Given the description of an element on the screen output the (x, y) to click on. 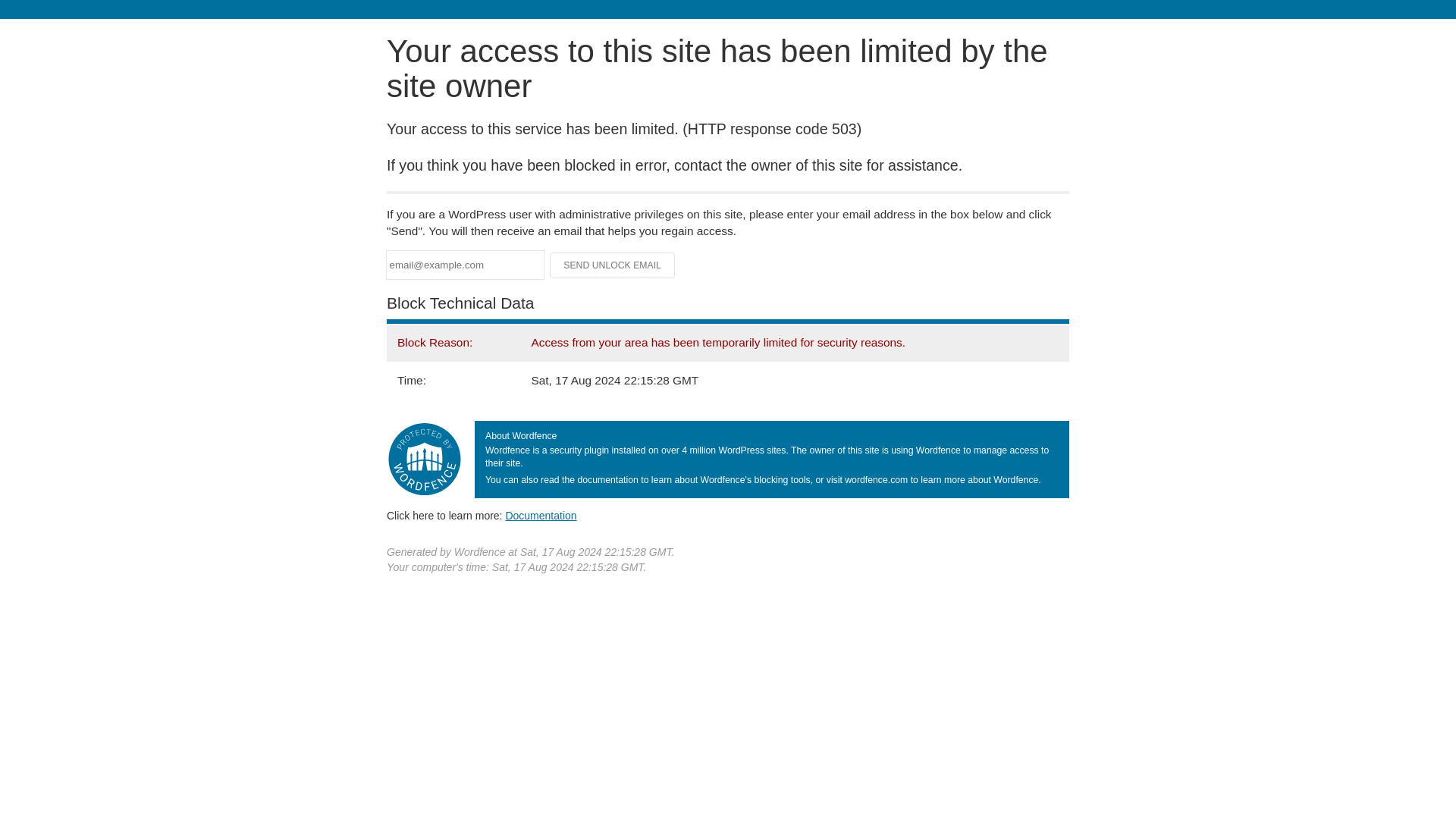
Send Unlock Email (612, 265)
Documentation (540, 515)
Send Unlock Email (612, 265)
